Given the description of an element on the screen output the (x, y) to click on. 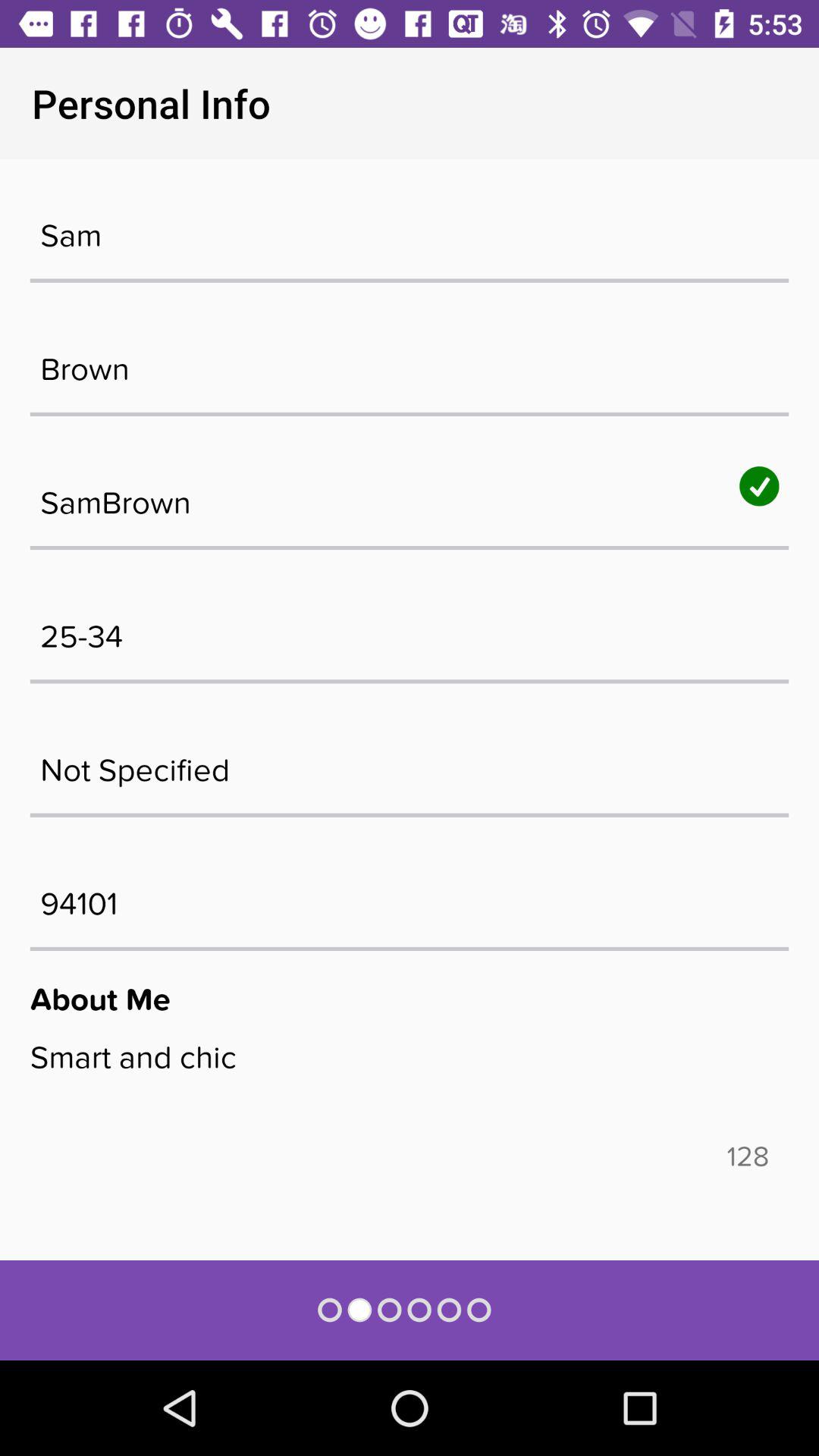
turn off the smart and chic

 icon (409, 1089)
